Given the description of an element on the screen output the (x, y) to click on. 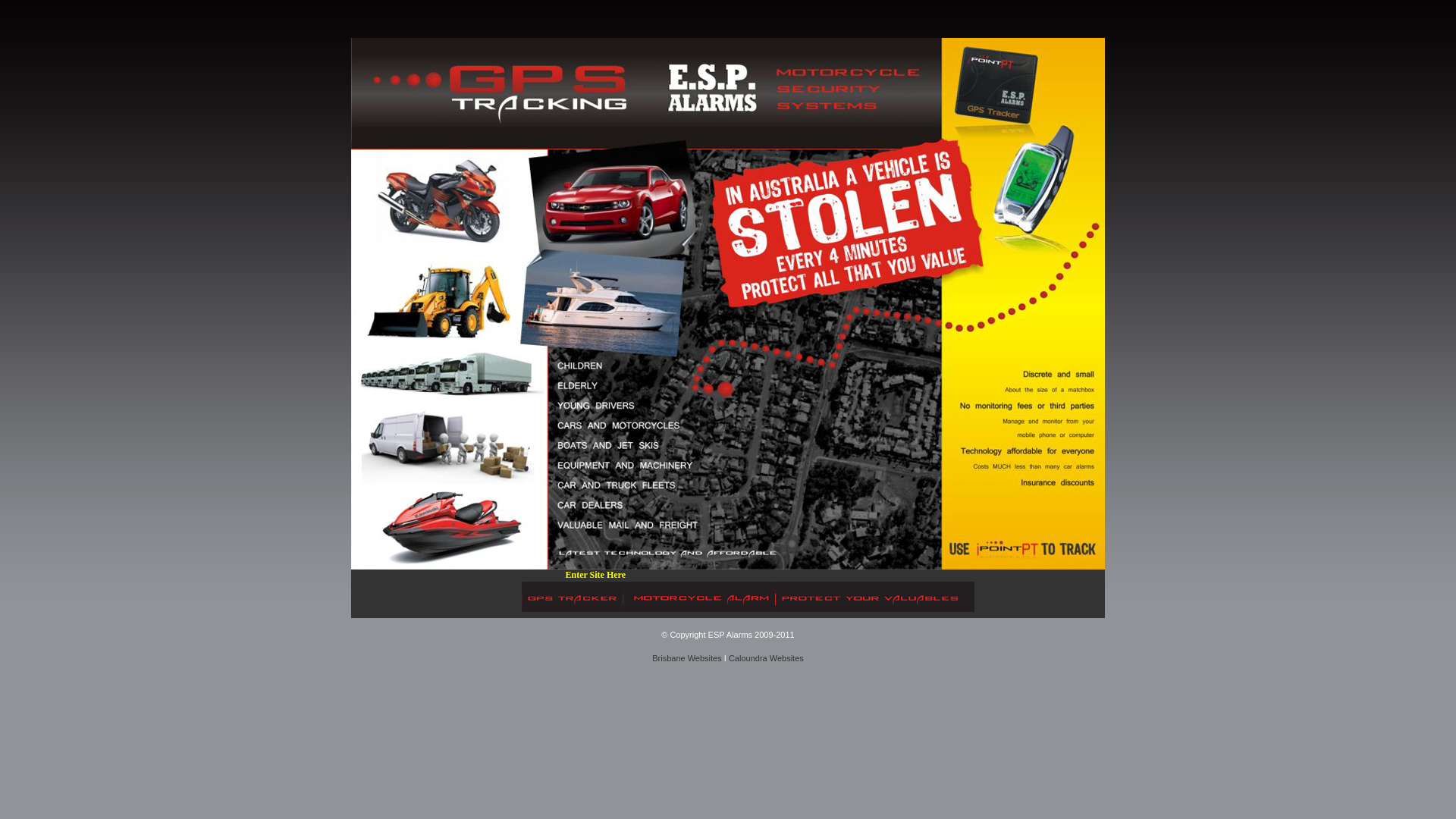
Brisbane Websites Element type: text (686, 657)
Caloundra Websites Element type: text (765, 657)
